Given the description of an element on the screen output the (x, y) to click on. 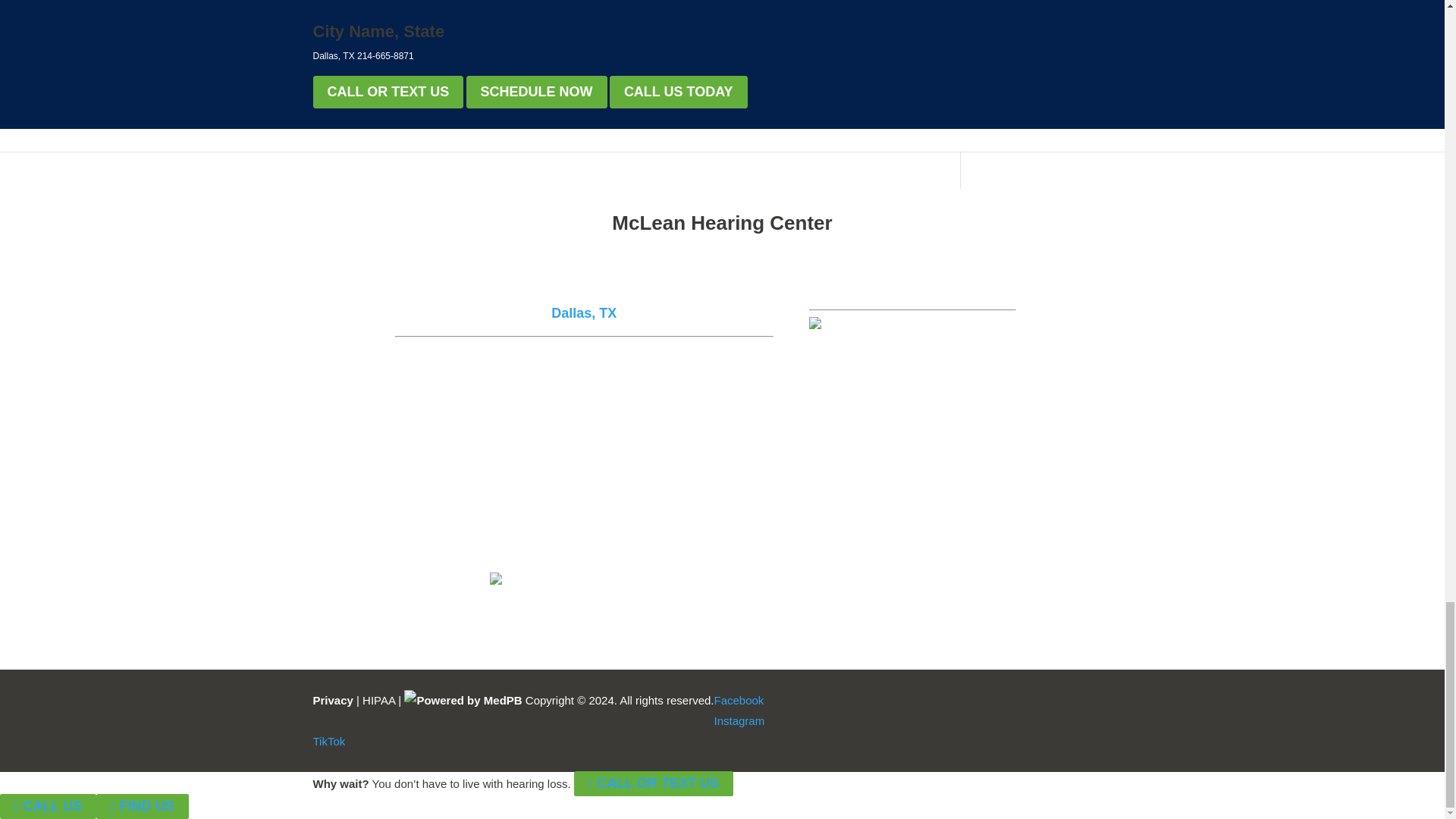
McLean Hearing Center (722, 226)
MedPB: Medical Practice Building, Marketing, Websites (462, 699)
